Given the description of an element on the screen output the (x, y) to click on. 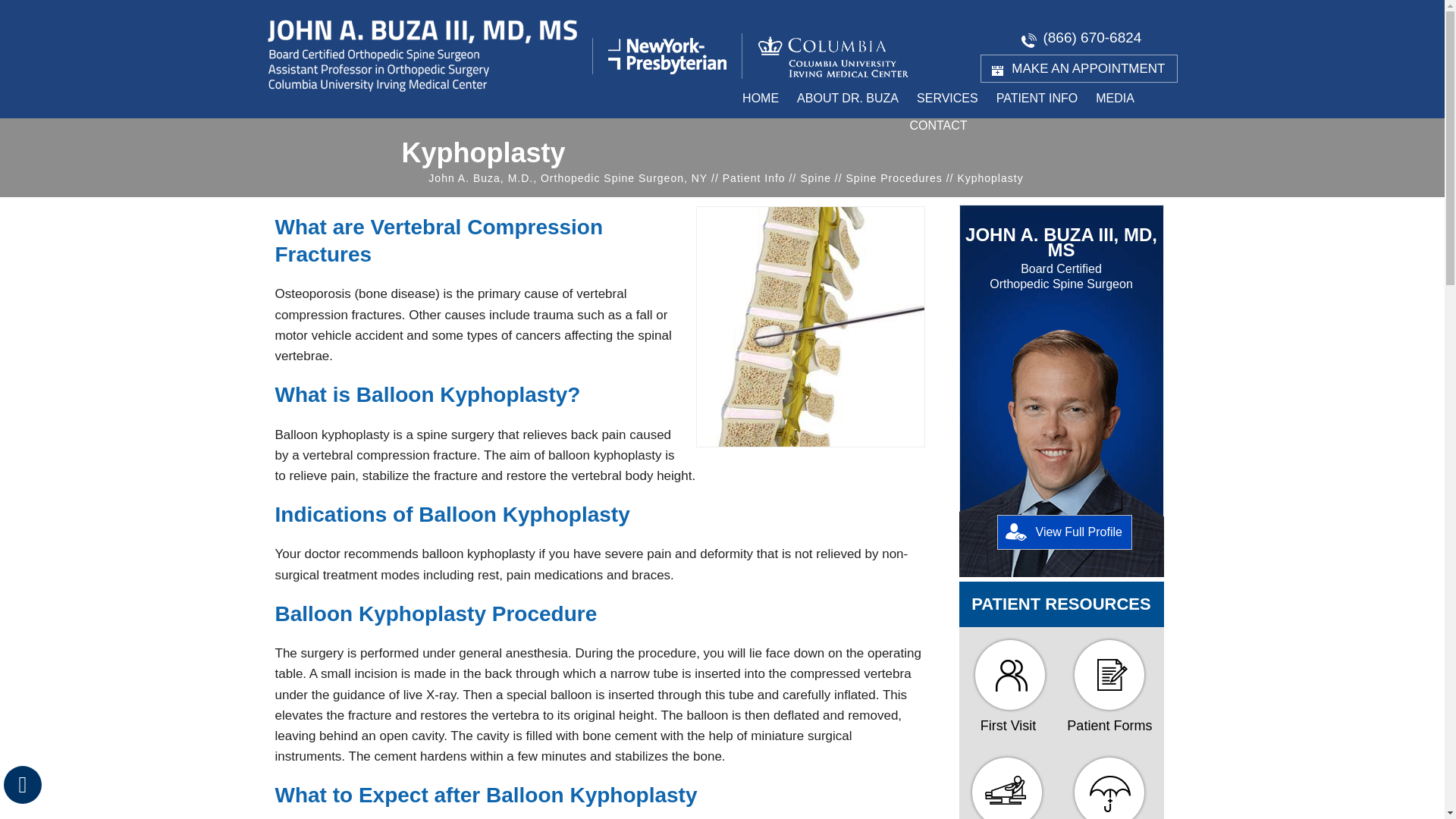
Hide (22, 784)
MAKE AN APPOINTMENT (1077, 68)
SERVICES (947, 98)
ABOUT DR. BUZA (847, 98)
Accessible Tool Options (23, 784)
PATIENT INFO (1037, 98)
HOME (760, 98)
